Given the description of an element on the screen output the (x, y) to click on. 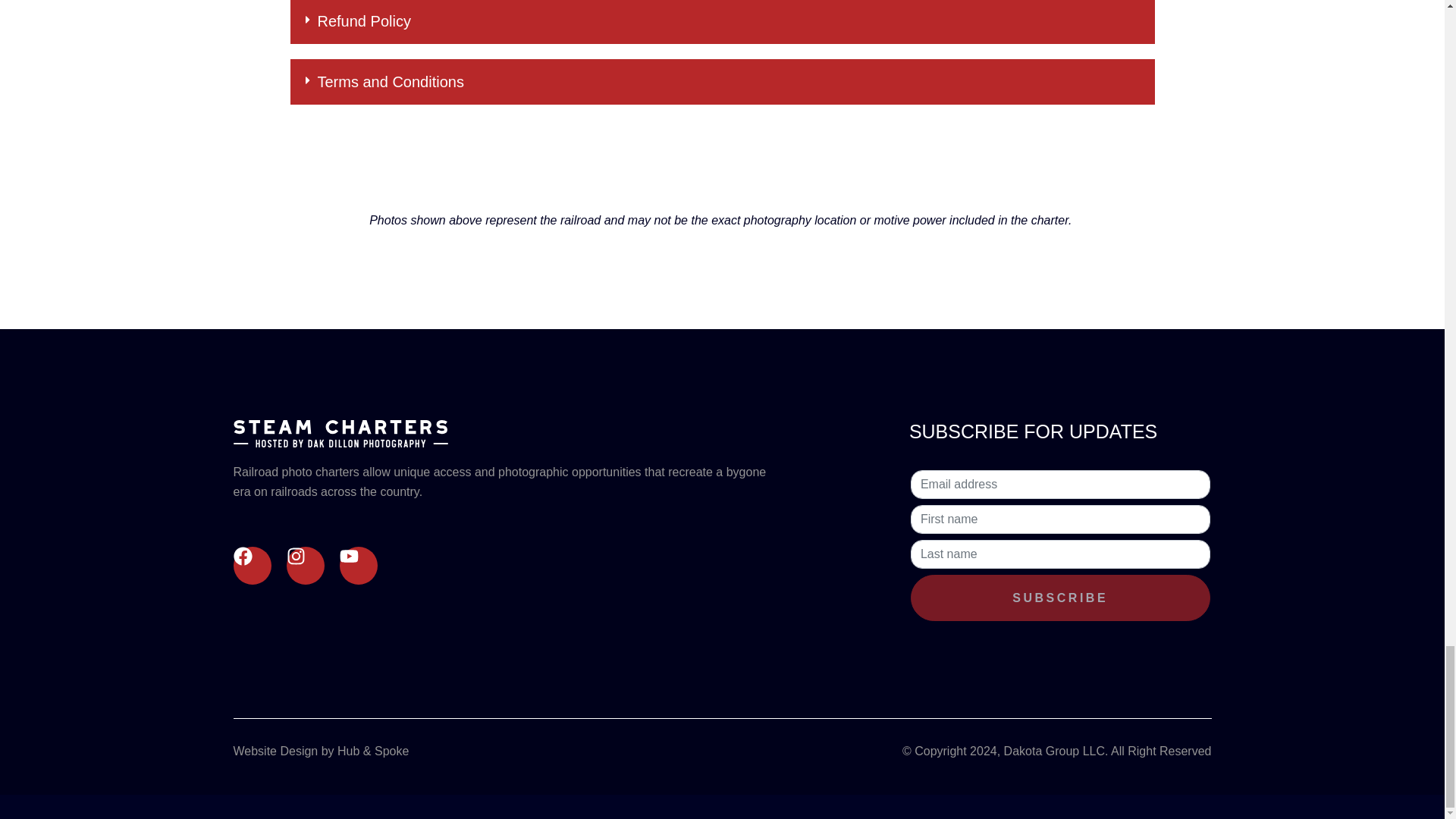
Subscribe (1060, 597)
Refund Policy (363, 21)
Terms and Conditions (390, 81)
Subscribe (1060, 597)
